Given the description of an element on the screen output the (x, y) to click on. 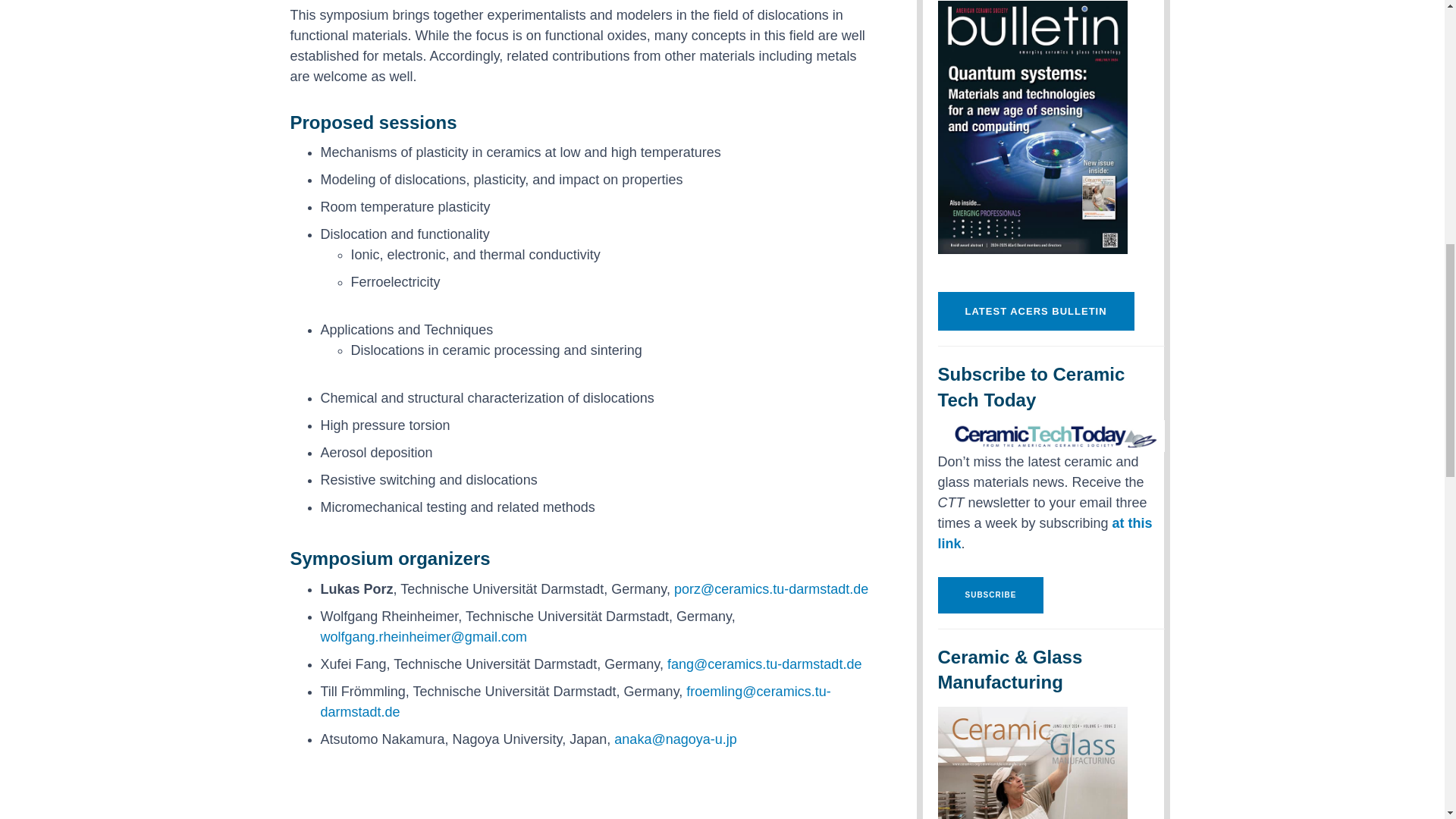
CTT banner (1050, 435)
